Given the description of an element on the screen output the (x, y) to click on. 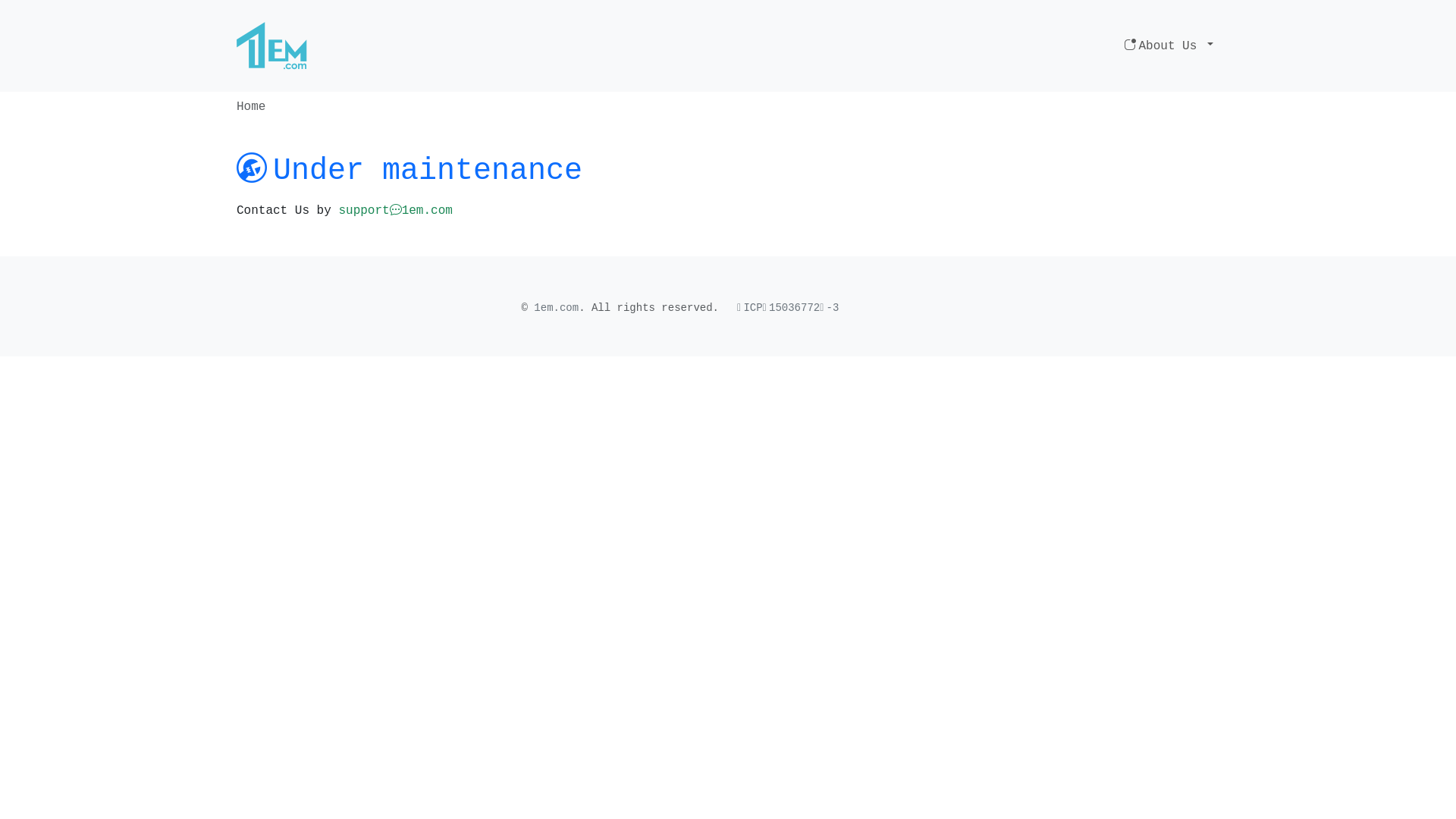
About Us Element type: text (1168, 45)
1em.com Element type: text (555, 307)
